Given the description of an element on the screen output the (x, y) to click on. 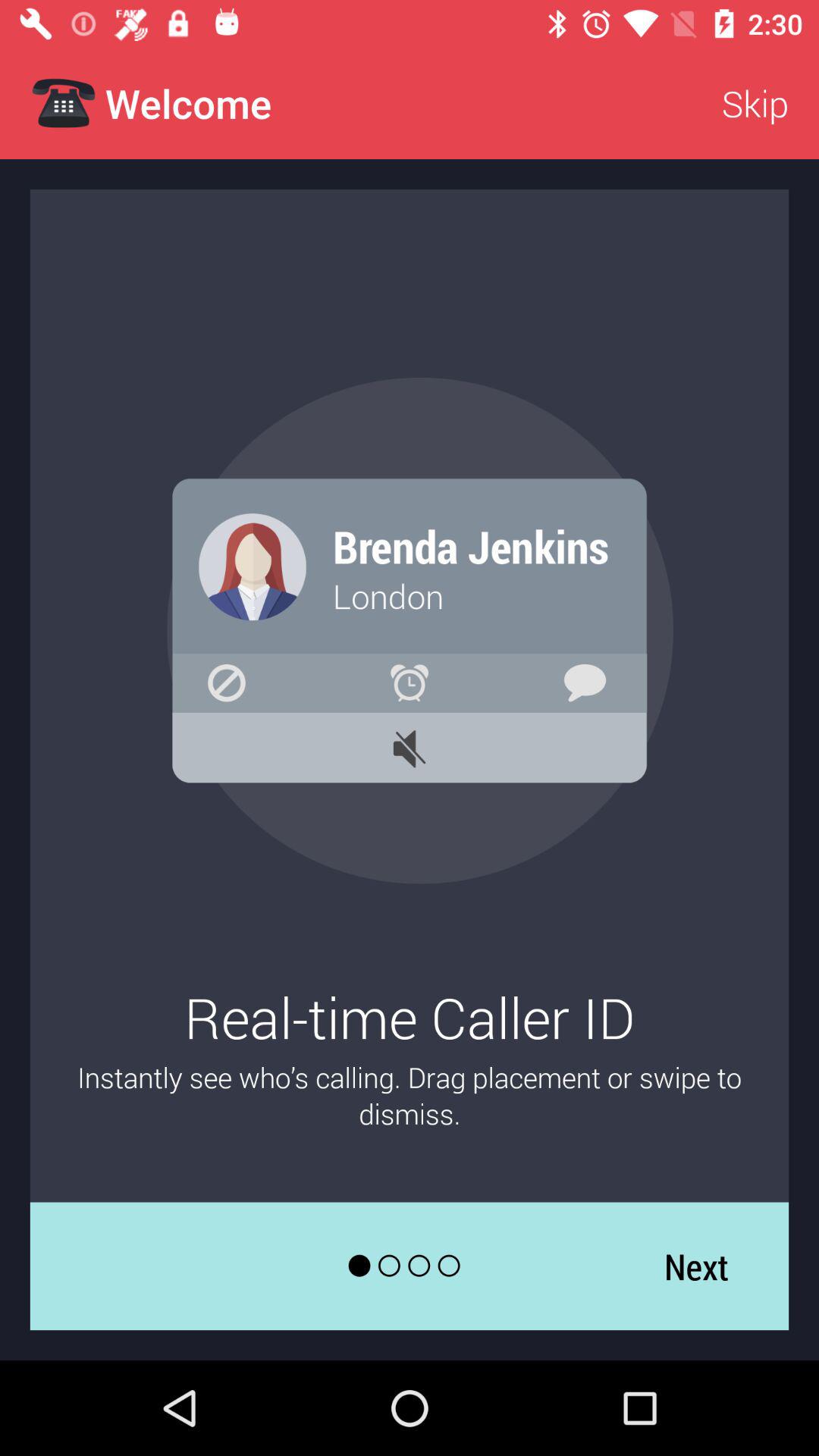
flip to the next icon (696, 1266)
